Given the description of an element on the screen output the (x, y) to click on. 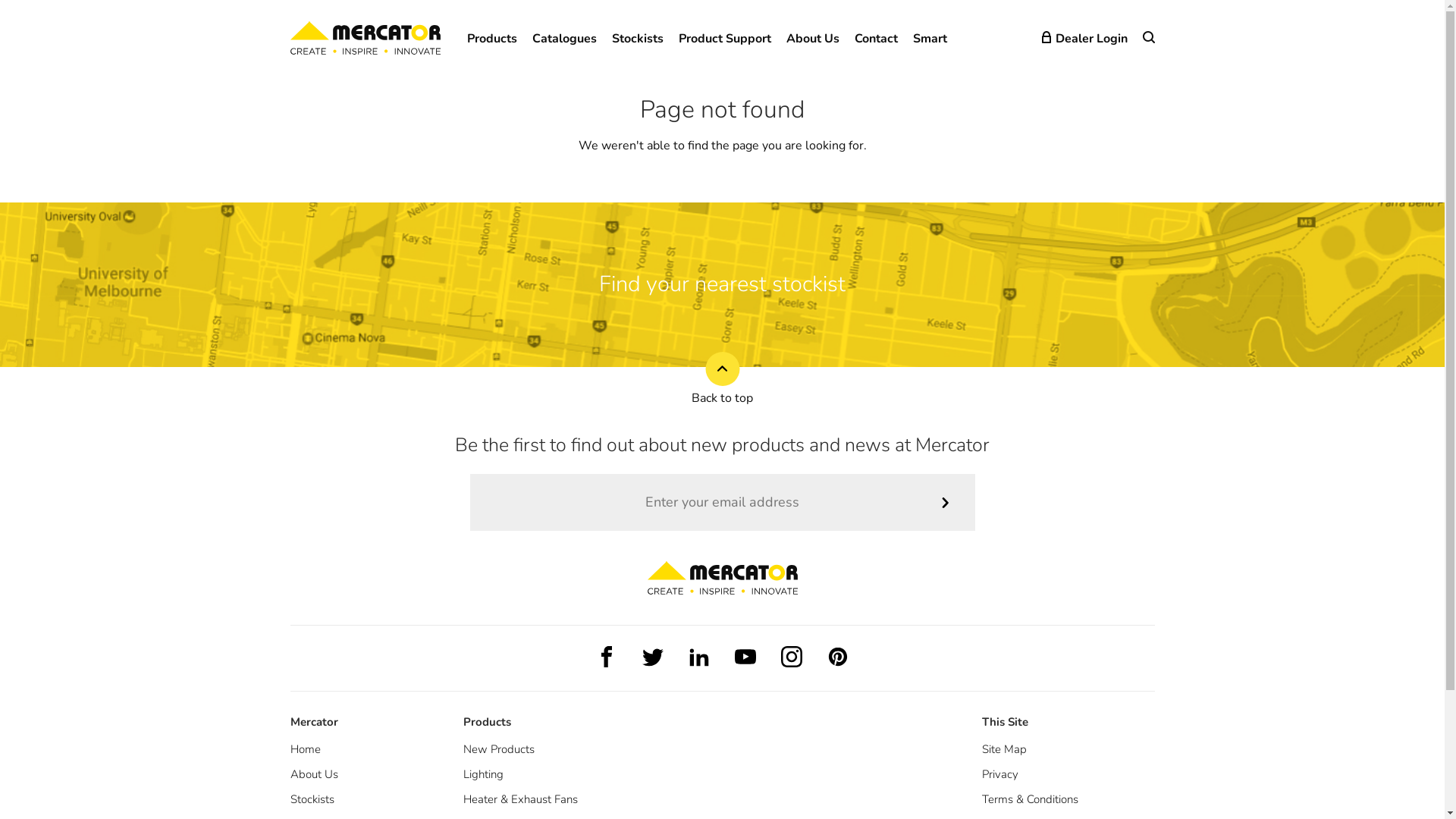
Smart Element type: text (930, 38)
About Us Element type: text (811, 38)
Facebook Element type: hover (607, 656)
YouTube Element type: hover (745, 656)
Site Map Element type: text (1003, 748)
Contact Element type: text (875, 38)
Back to top Element type: text (722, 378)
Subscribe Element type: text (944, 502)
Instagram Element type: hover (792, 656)
New Products Element type: text (497, 748)
Products Element type: text (492, 38)
Stockists Element type: text (636, 38)
Privacy Element type: text (999, 773)
Product Support Element type: text (723, 38)
About Us Element type: text (313, 773)
Terms & Conditions Element type: text (1029, 798)
Twitter Element type: hover (652, 656)
Catalogues Element type: text (564, 38)
LinkedIn Element type: hover (699, 656)
Skip to content Element type: text (0, 0)
Dealer Login Element type: text (1083, 38)
Home Element type: text (304, 748)
Find your nearest stockist Element type: text (722, 283)
Stockists Element type: text (311, 798)
Lighting Element type: text (482, 773)
Heater & Exhaust Fans Element type: text (519, 798)
Pinterest Element type: hover (837, 656)
